Given the description of an element on the screen output the (x, y) to click on. 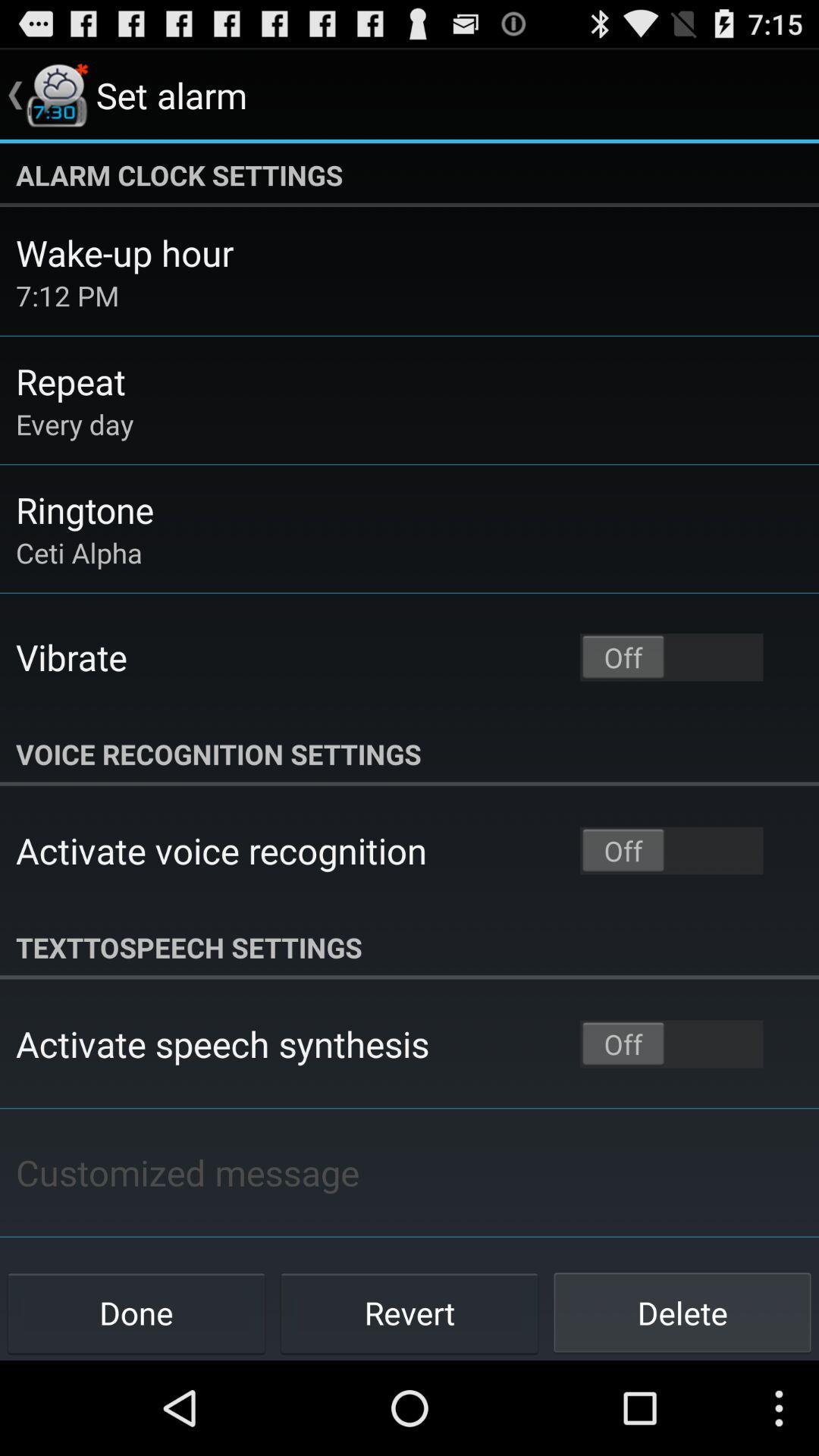
press the wake-up hour item (124, 252)
